Given the description of an element on the screen output the (x, y) to click on. 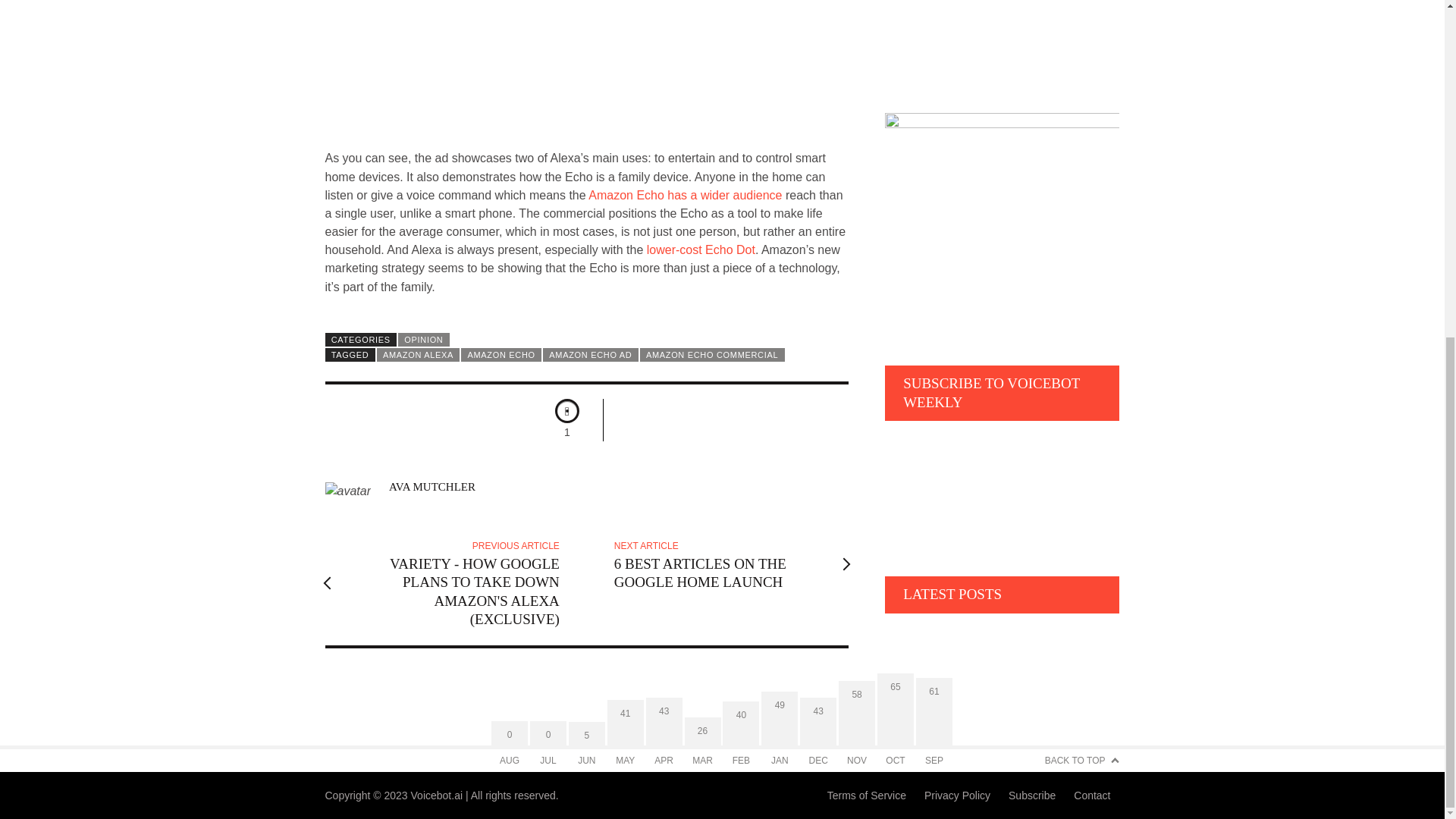
View all posts in Opinion (423, 339)
View all posts tagged amazon echo ad (591, 354)
View all posts tagged amazon echo (501, 354)
View all posts tagged amazon echo commercial (712, 354)
View all posts tagged amazon alexa (418, 354)
Posts by Ava Mutchler (432, 486)
